Given the description of an element on the screen output the (x, y) to click on. 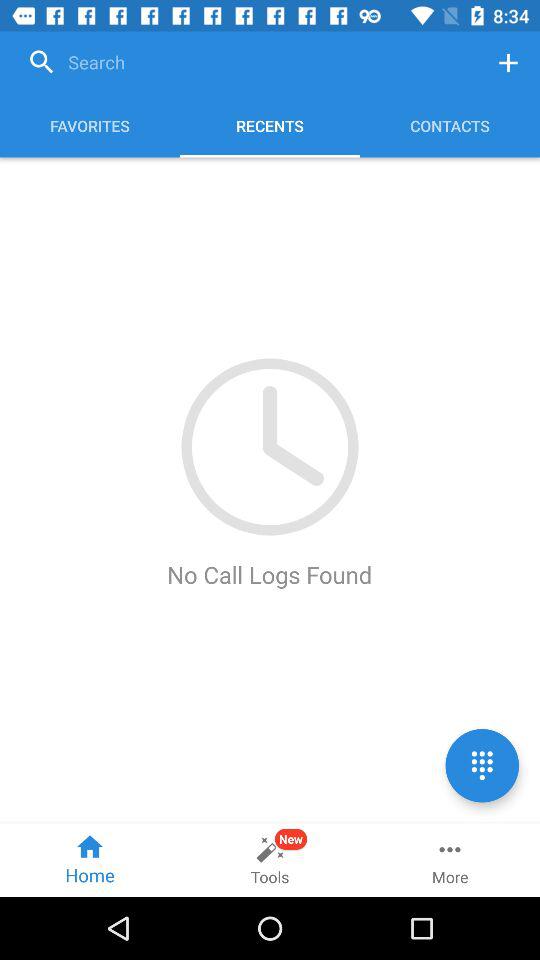
create new/add (508, 62)
